Given the description of an element on the screen output the (x, y) to click on. 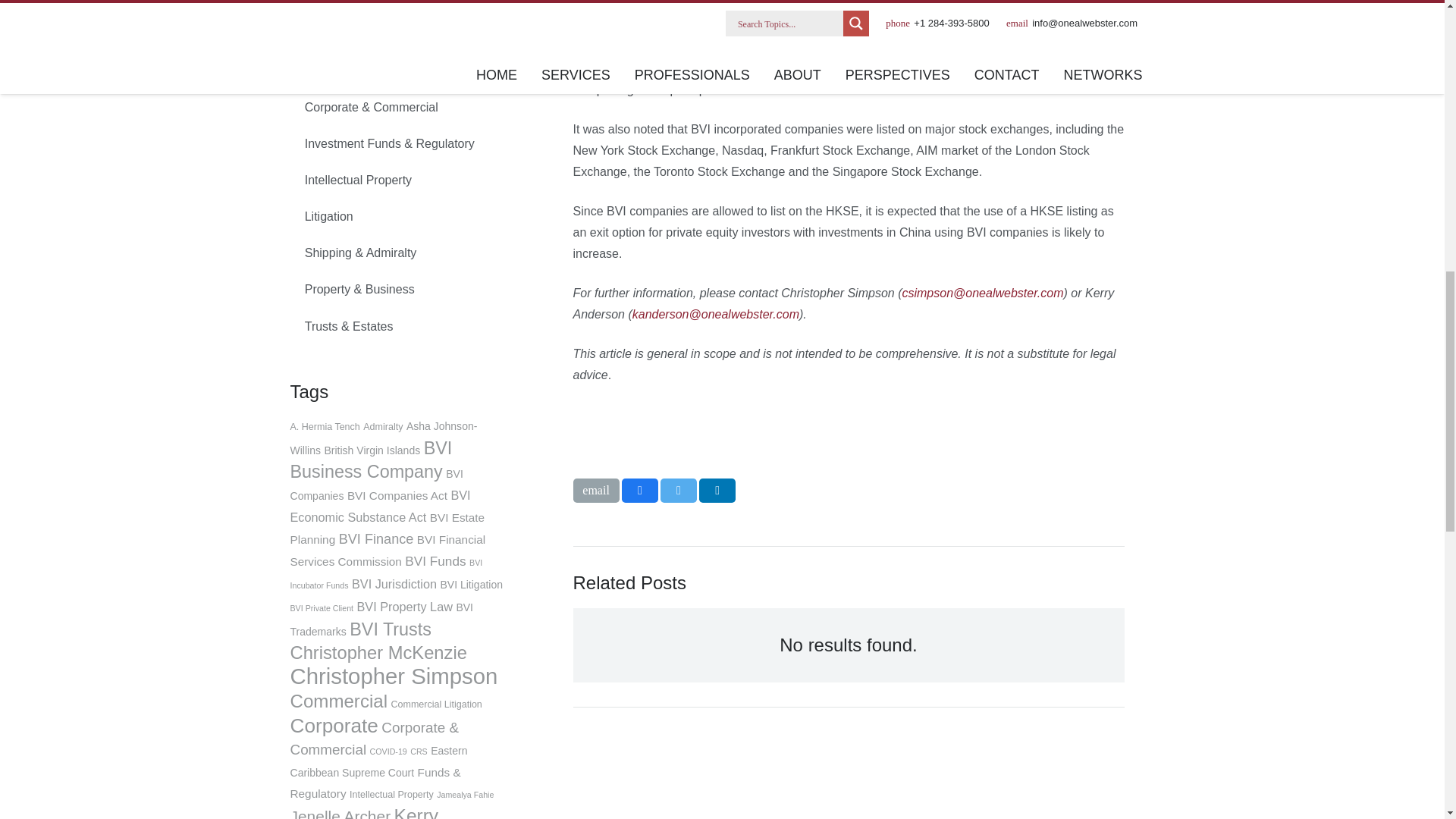
Email this (596, 490)
Tweet this (679, 490)
Share this (639, 490)
Share this (716, 490)
Back to top (1413, 30)
